Given the description of an element on the screen output the (x, y) to click on. 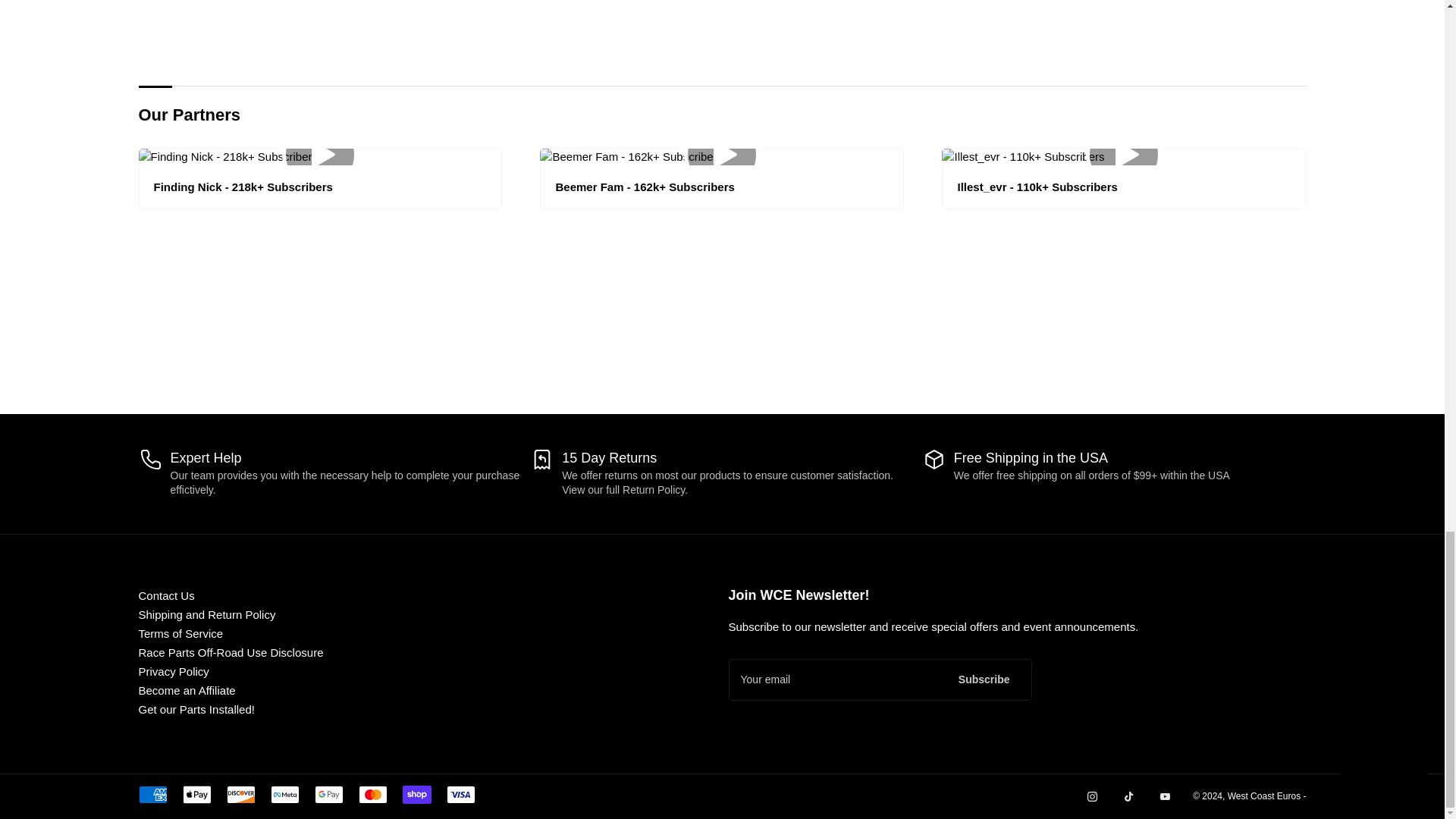
Apple Pay (196, 794)
Discover (239, 794)
American Express (152, 794)
